Given the description of an element on the screen output the (x, y) to click on. 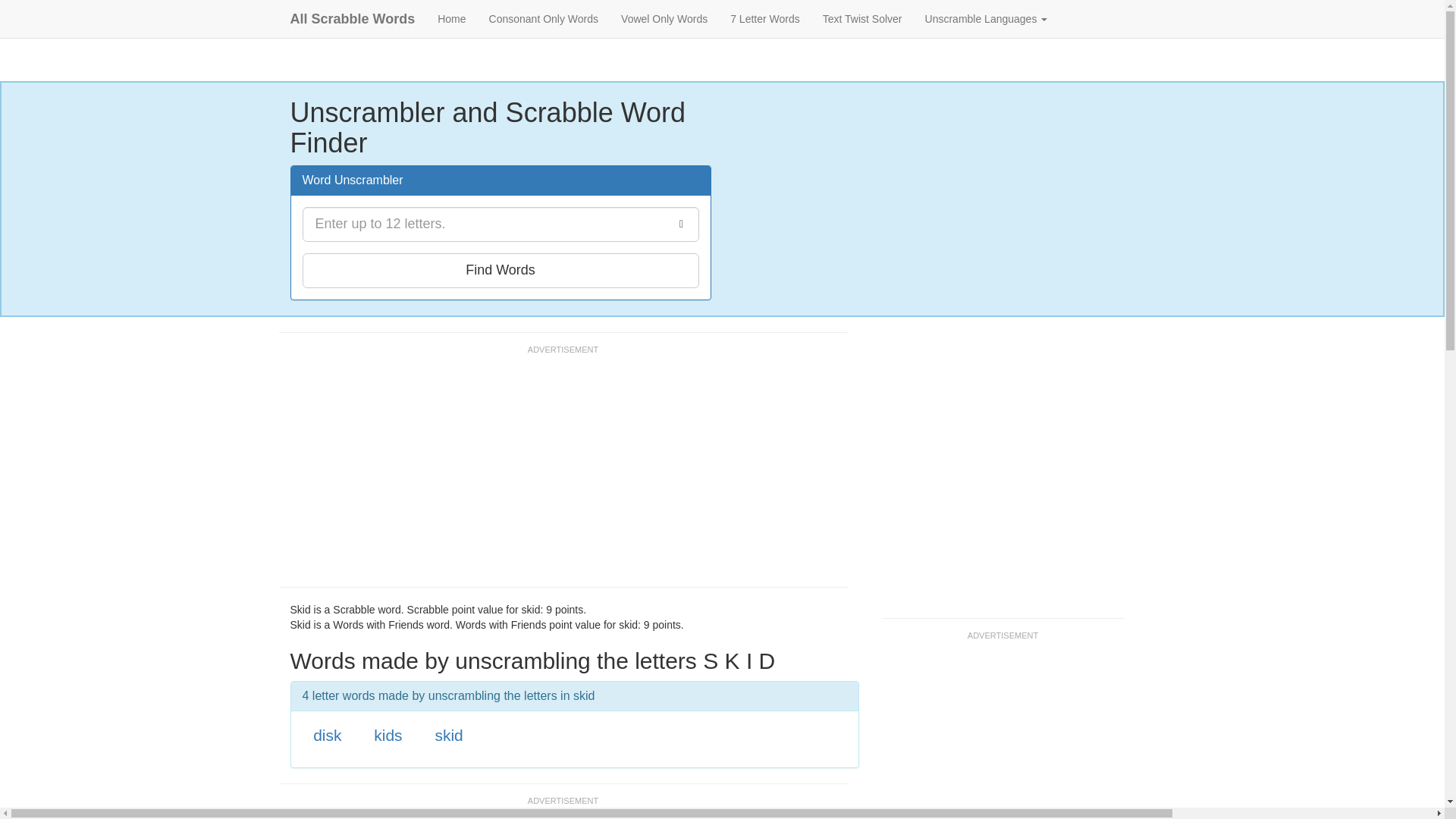
7 Letter Words (764, 18)
kids (387, 734)
skid (448, 734)
Vowel Only Words (664, 18)
All Scrabble Words (352, 18)
disk (326, 734)
Find Words (499, 270)
Text Twist Solver (862, 18)
Advertisement (555, 472)
Consonant Only Scrabble Words (543, 18)
